Given the description of an element on the screen output the (x, y) to click on. 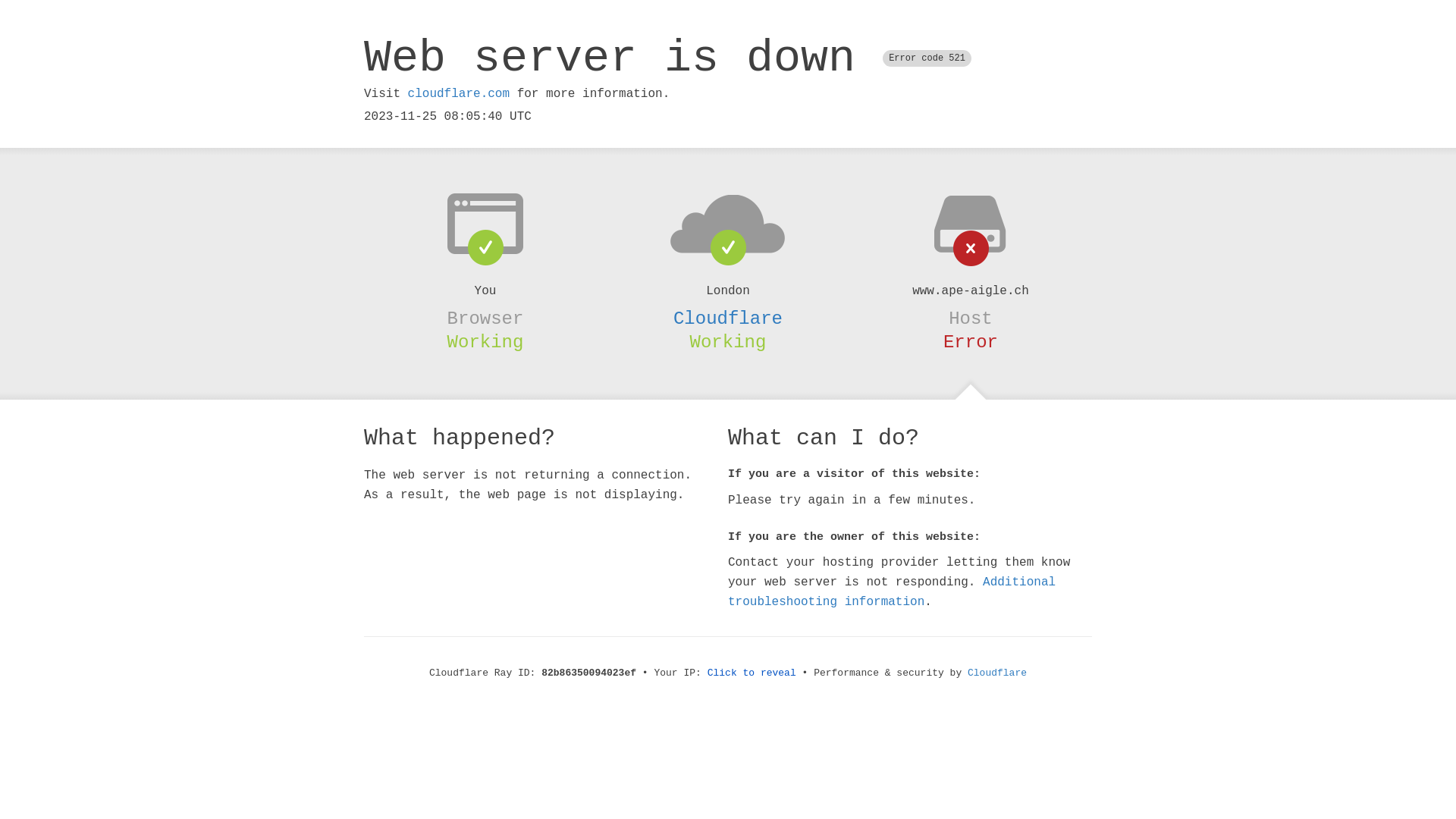
Cloudflare Element type: text (727, 318)
cloudflare.com Element type: text (458, 93)
Cloudflare Element type: text (996, 672)
Additional troubleshooting information Element type: text (891, 591)
Click to reveal Element type: text (751, 672)
